Given the description of an element on the screen output the (x, y) to click on. 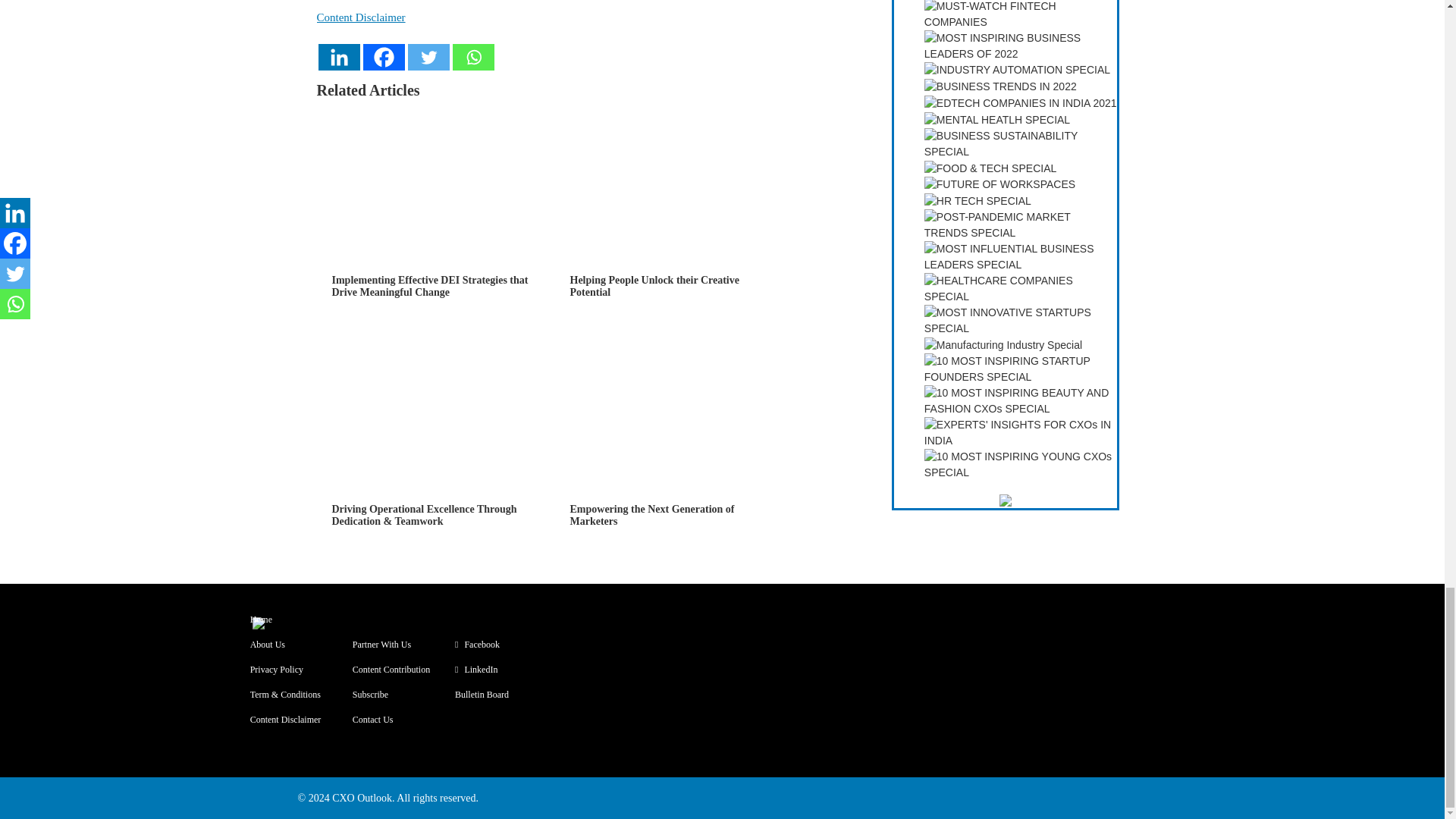
Twitter (428, 57)
Empowering the Next Generation of Marketers (673, 449)
Whatsapp (472, 57)
Linkedin (338, 57)
Content Disclaimer (361, 17)
Facebook (383, 57)
Helping People Unlock their Creative Potential (673, 220)
